Given the description of an element on the screen output the (x, y) to click on. 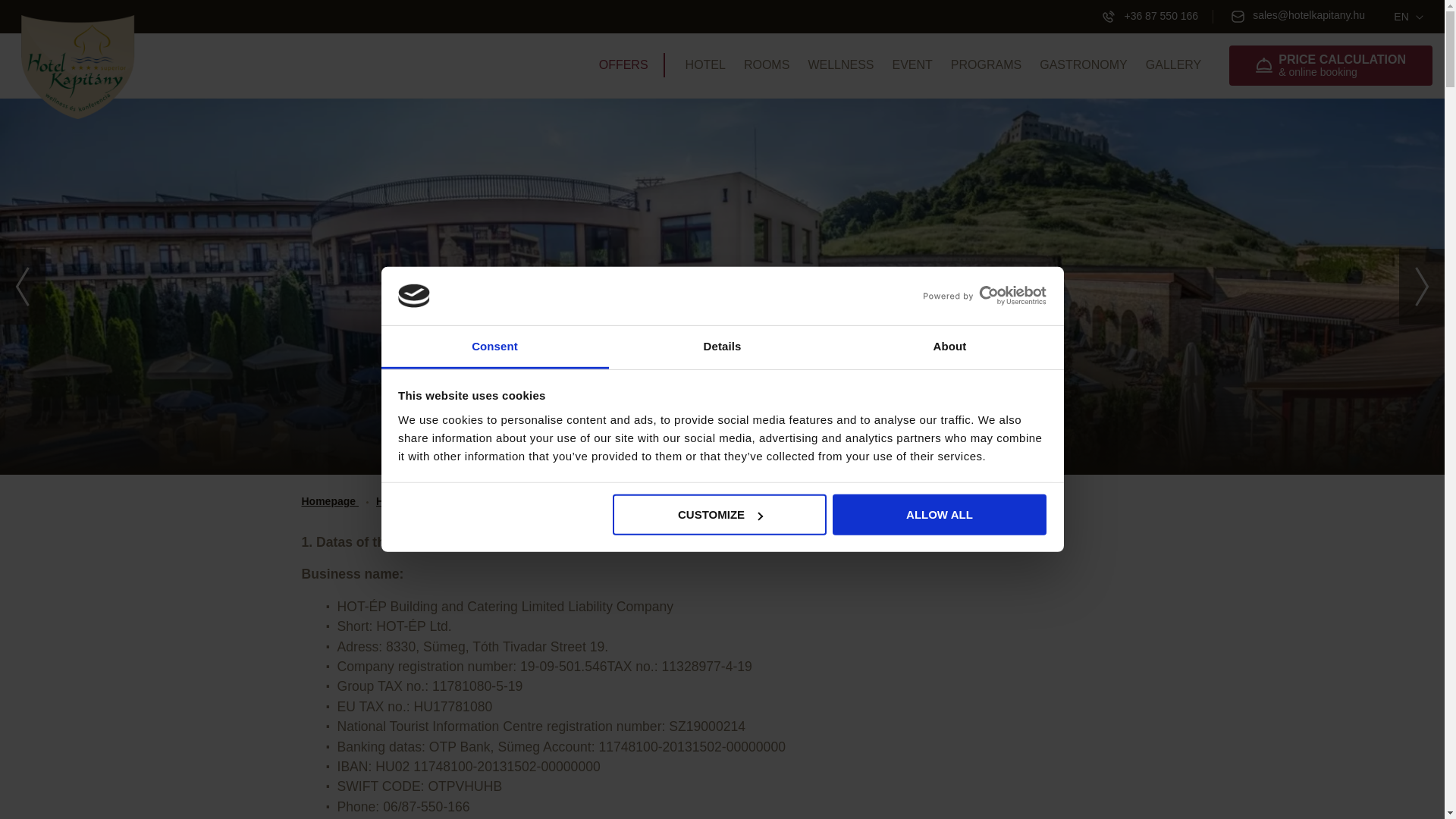
Consent (494, 347)
Details (721, 347)
About (948, 347)
